Given the description of an element on the screen output the (x, y) to click on. 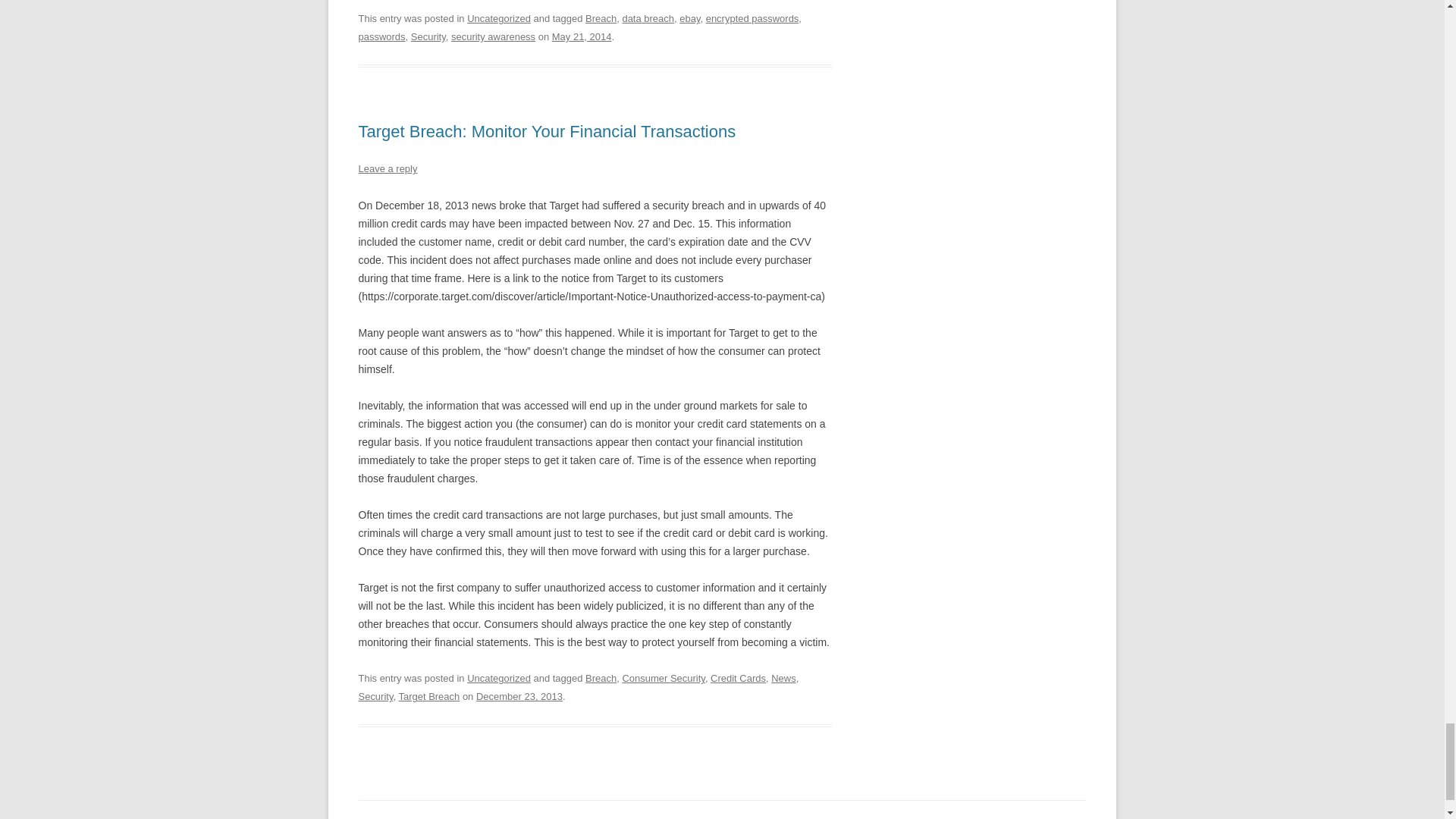
10:35 pm (581, 36)
